Given the description of an element on the screen output the (x, y) to click on. 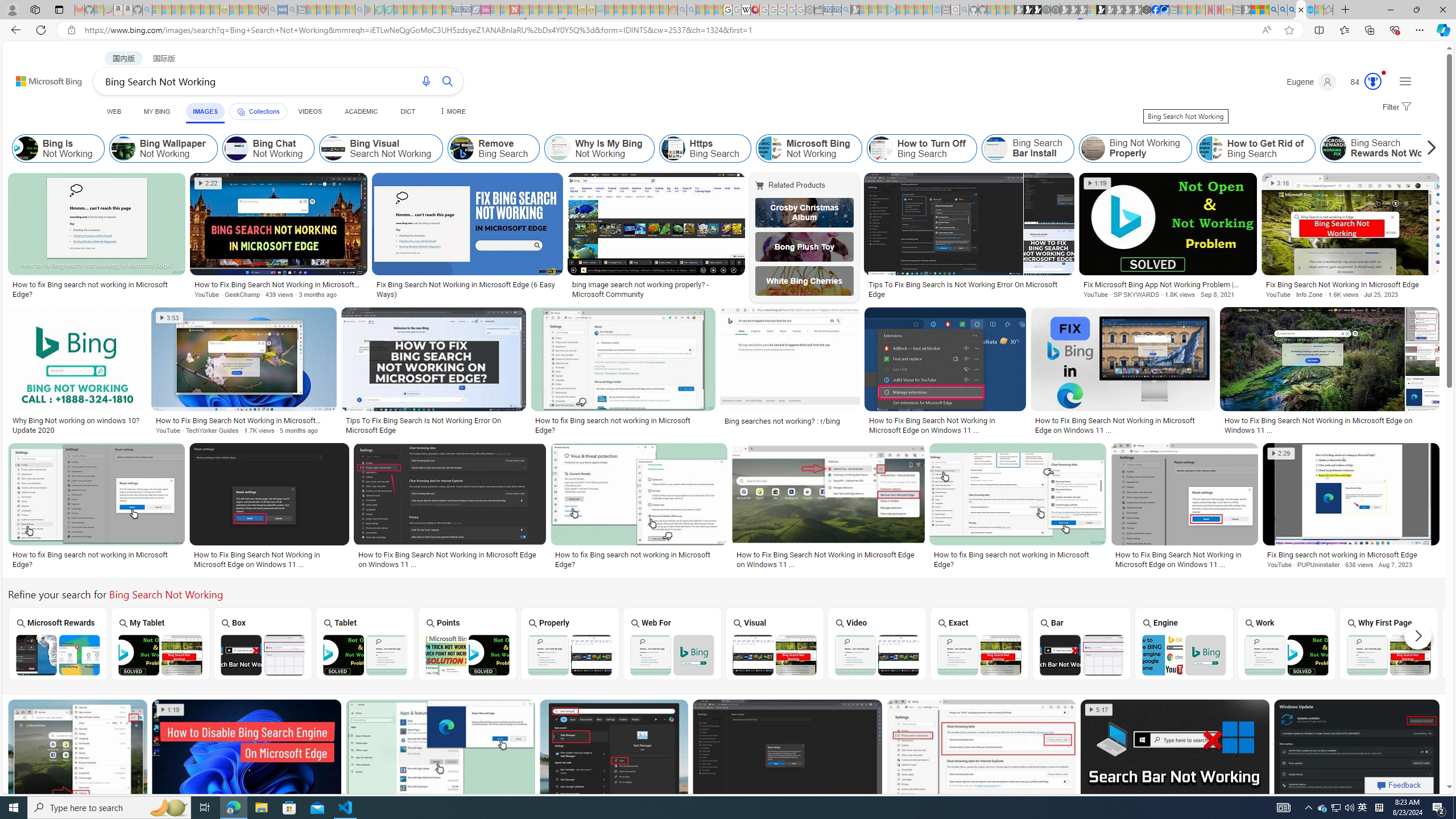
Bing Search Not Working Properly (569, 655)
How to Turn Off Bing Search (921, 148)
3:53 (169, 317)
Nordace | Facebook (1154, 9)
Https Bing Search (673, 148)
Fix Bing Search Not Working in Microsoft Edge (6 Easy Ways) (468, 289)
Bing Search Rewards Not Working (1334, 148)
1:19 (170, 709)
